Given the description of an element on the screen output the (x, y) to click on. 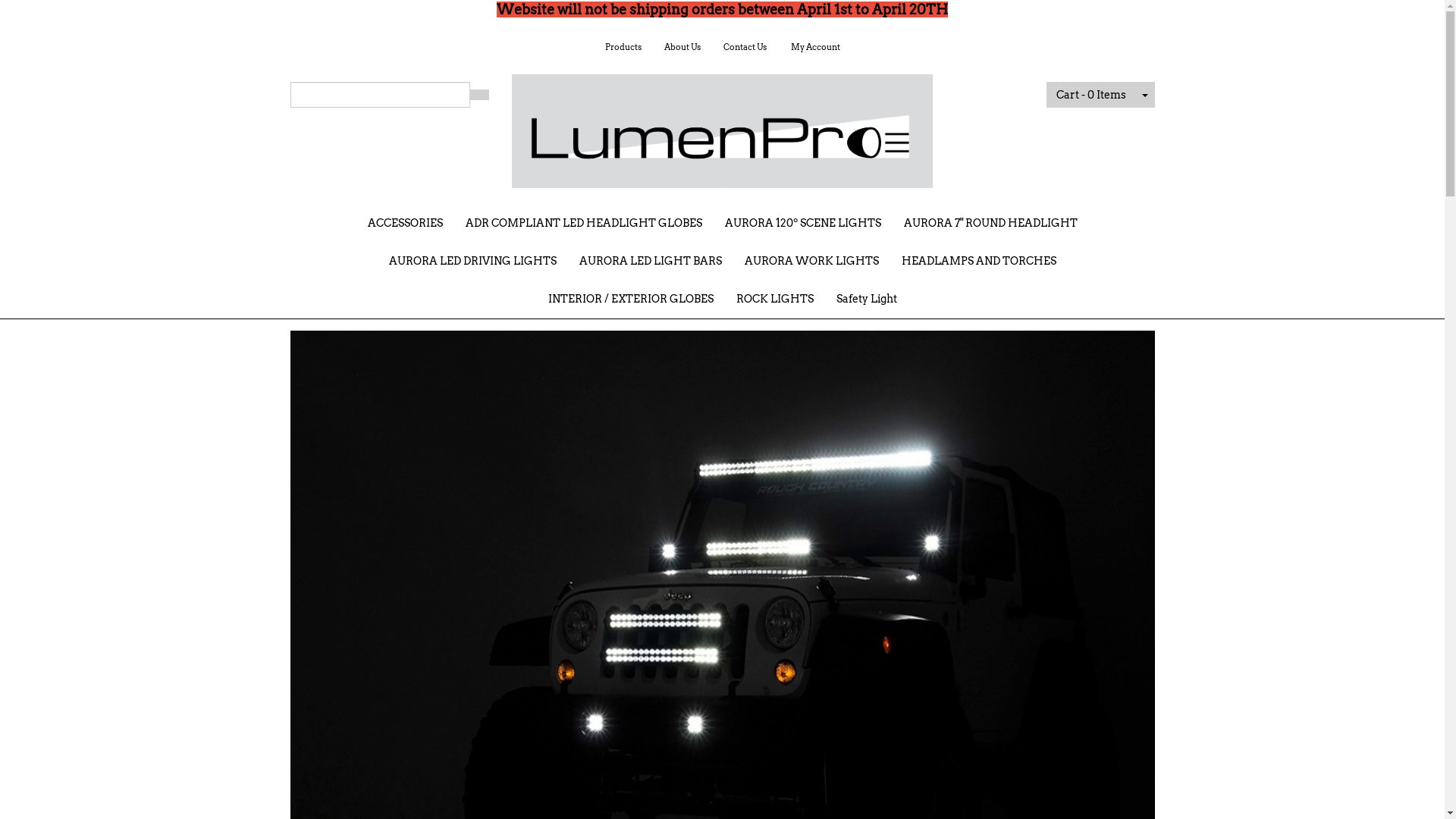
ROCK LIGHTS Element type: text (774, 298)
ADR COMPLIANT LED HEADLIGHT GLOBES Element type: text (582, 222)
About Us Element type: text (681, 46)
Products Element type: text (622, 46)
Contact Us Element type: text (744, 46)
AURORA WORK LIGHTS Element type: text (810, 260)
AURORA LED DRIVING LIGHTS Element type: text (472, 260)
AURORA 7" ROUND HEADLIGHT Element type: text (989, 222)
Safety Light Element type: text (866, 298)
ACCESSORIES Element type: text (405, 222)
HEADLAMPS AND TORCHES Element type: text (978, 260)
AURORA LED LIGHT BARS Element type: text (649, 260)
LumenPro Element type: hover (721, 125)
Cart - 0 Items Element type: text (1090, 94)
My Account Element type: text (815, 46)
Search Element type: text (479, 94)
INTERIOR / EXTERIOR GLOBES Element type: text (630, 298)
